Given the description of an element on the screen output the (x, y) to click on. 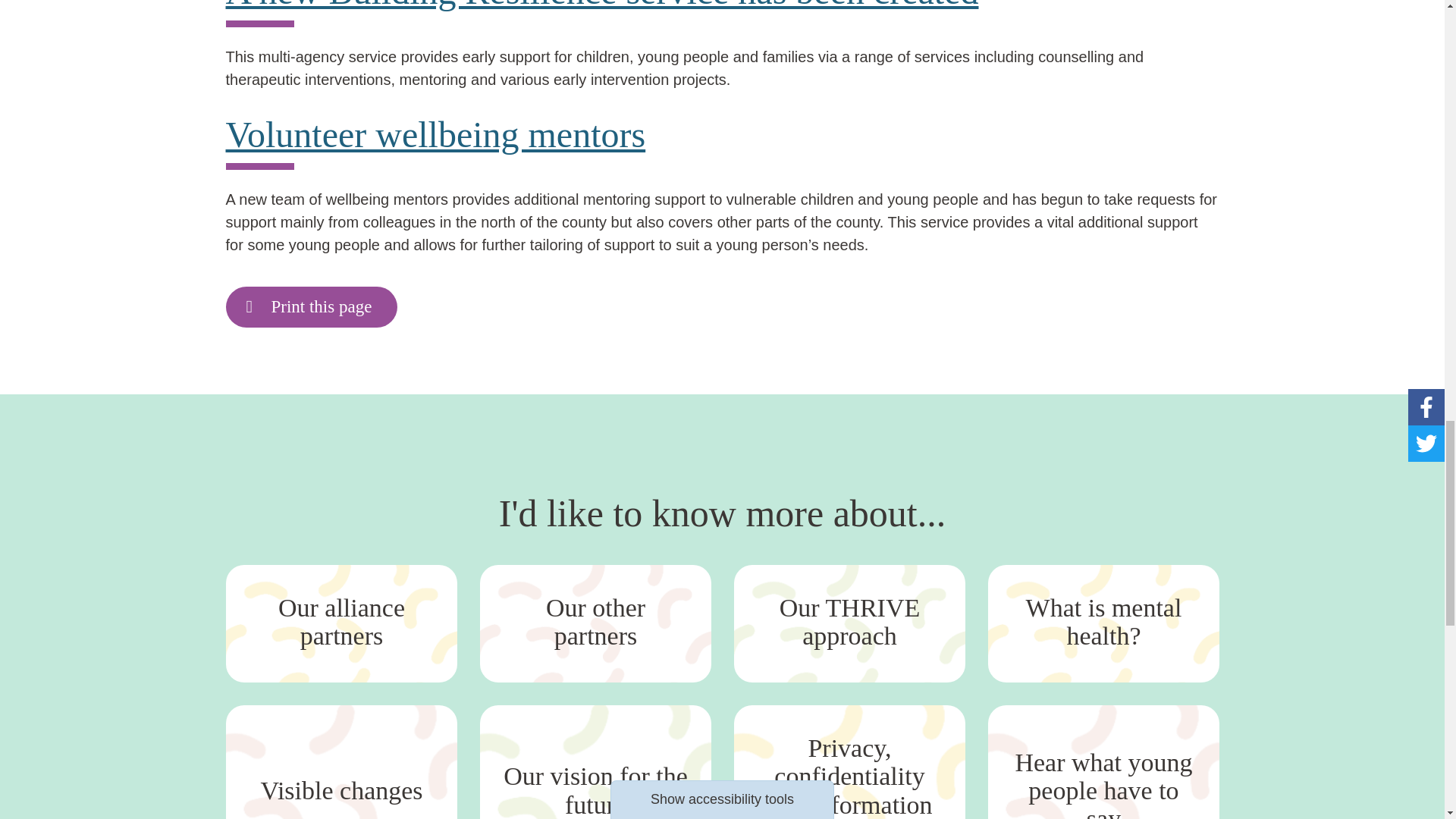
Building resilience (601, 5)
Our vision for the future (594, 762)
Hear what young people have to say (1102, 762)
Our other partners (594, 623)
Privacy, confidentiality and information sharing (849, 762)
Visible changes (341, 762)
What is mental health? (1102, 623)
Our alliance partners (341, 623)
Our THRIVE approach (849, 623)
